Given the description of an element on the screen output the (x, y) to click on. 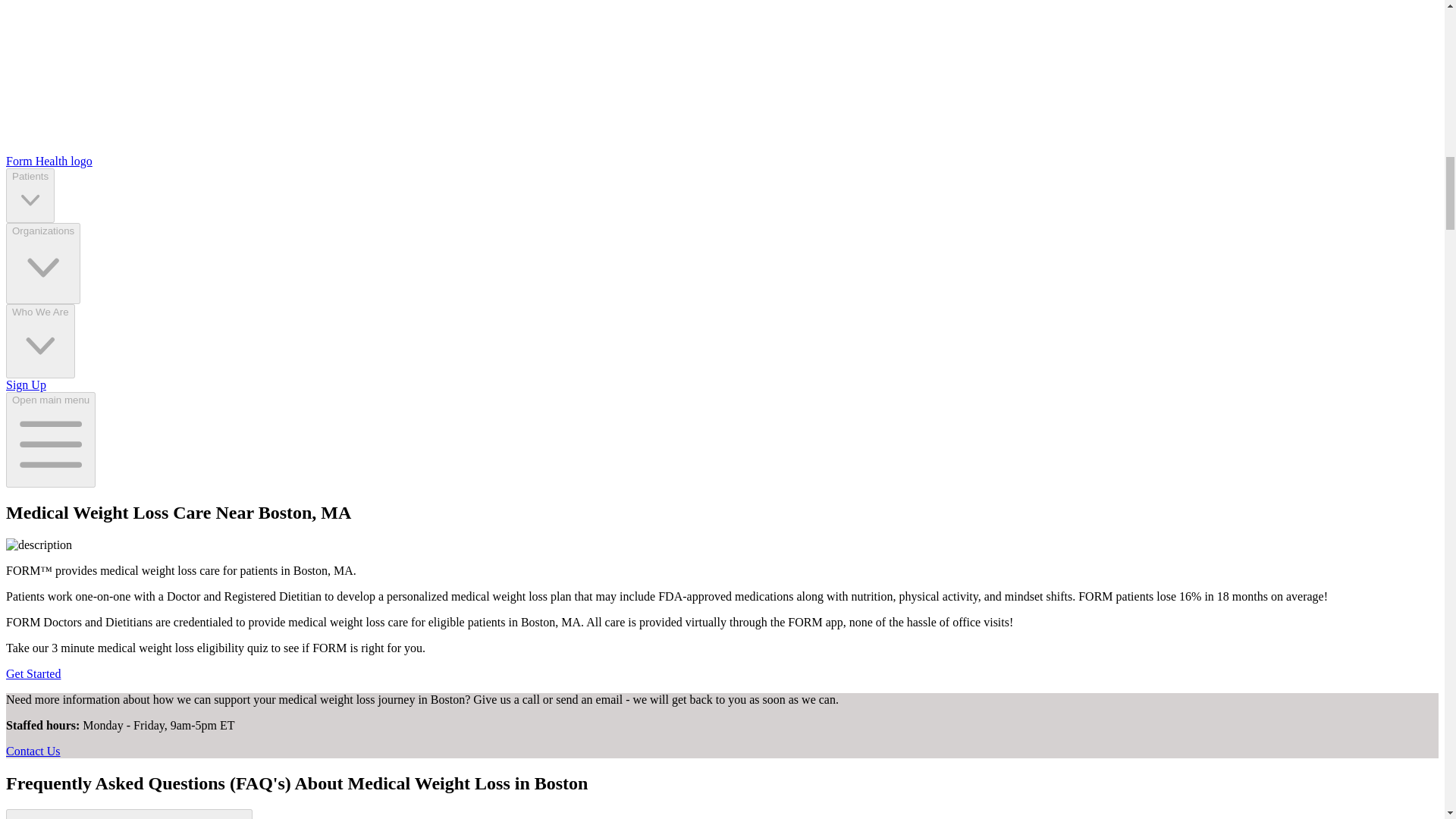
Sign Up (25, 384)
Organizations (42, 262)
Open main menu (50, 439)
Who We Are (40, 341)
